Given the description of an element on the screen output the (x, y) to click on. 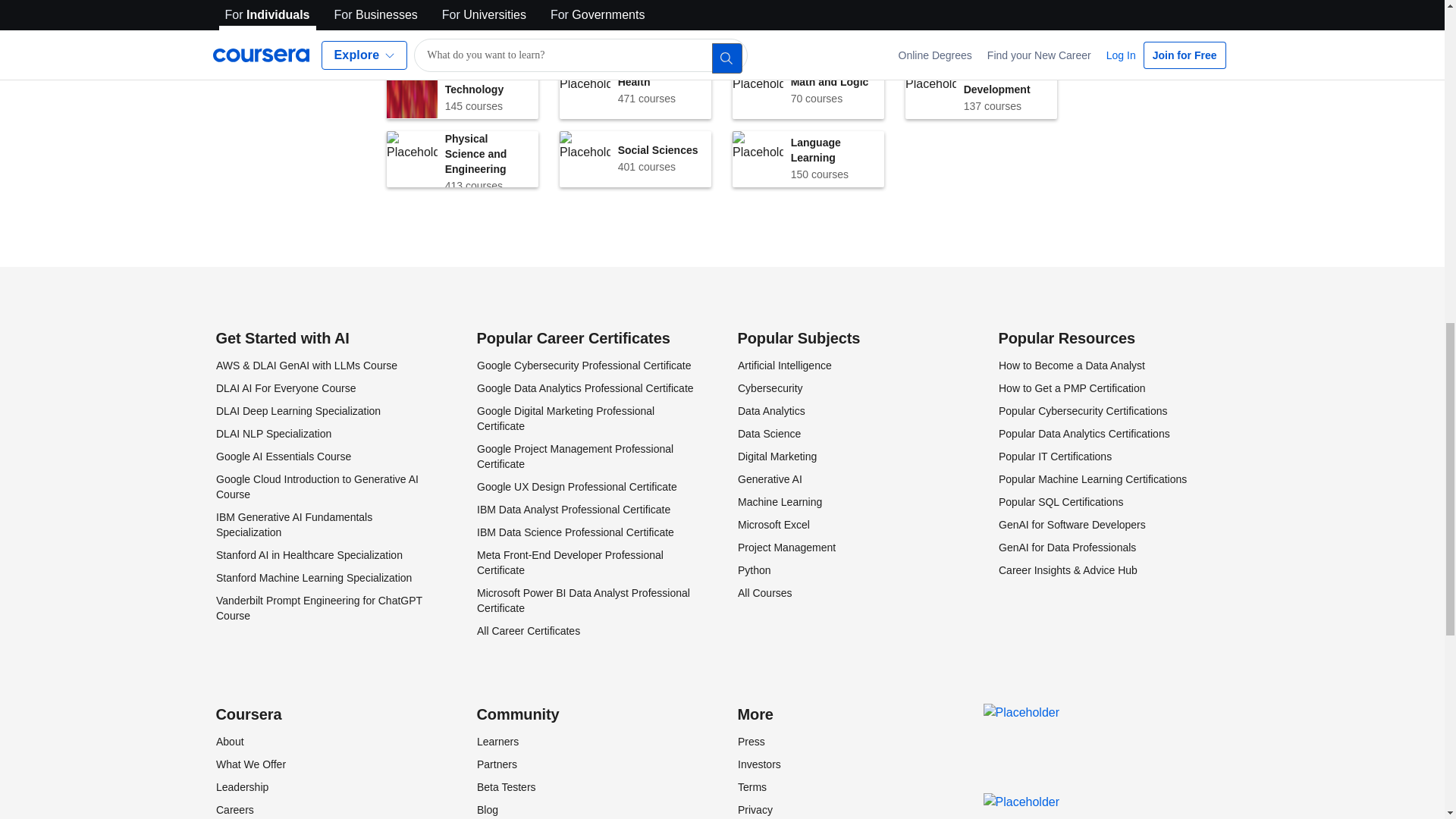
DLAI AI For Everyone Course (285, 387)
DLAI NLP Specialization (981, 90)
Google Cloud Introduction to Generative AI Course (462, 159)
IBM Generative AI Fundamentals Specialization (635, 159)
